Given the description of an element on the screen output the (x, y) to click on. 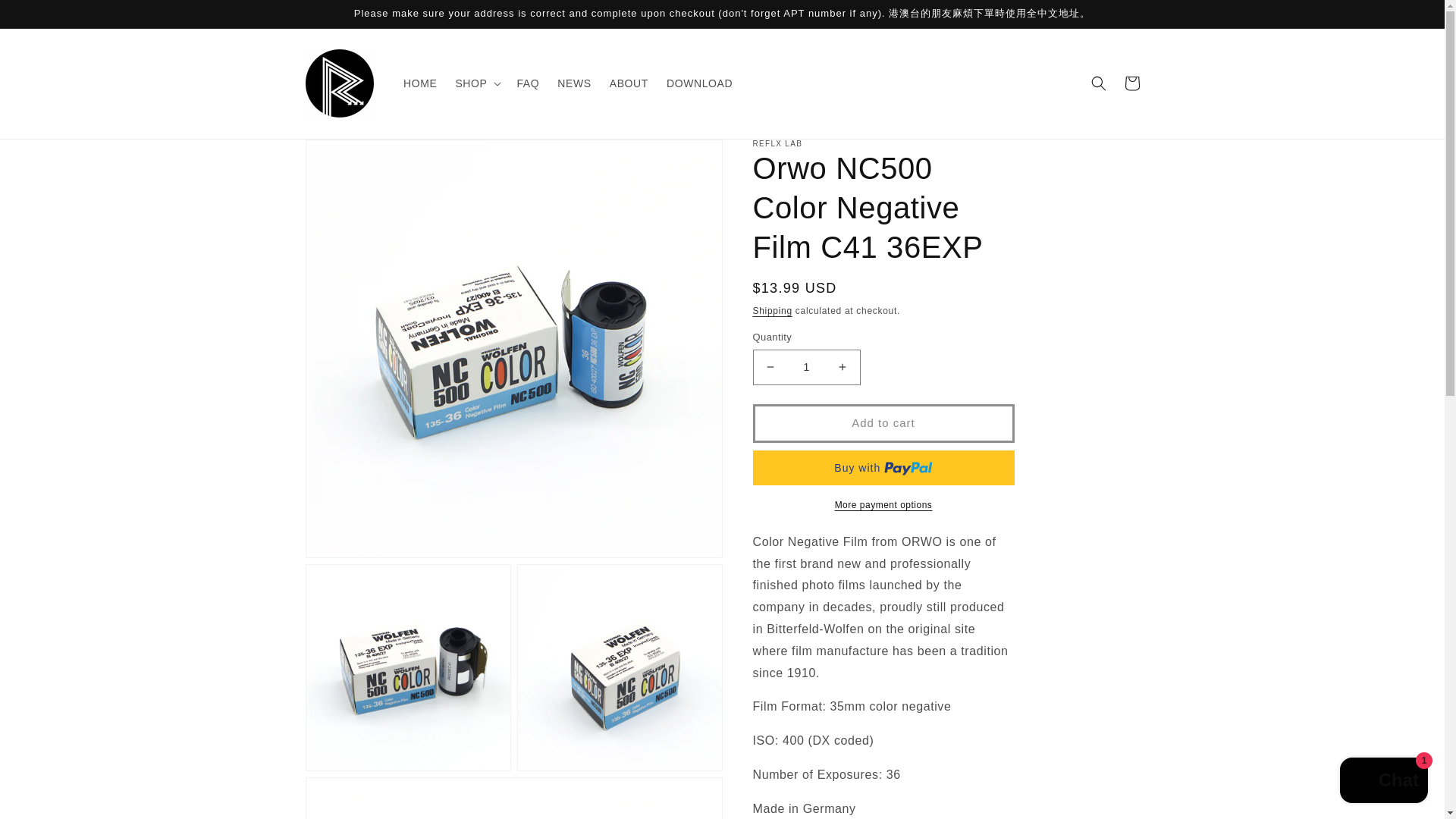
Shopify online store chat (1383, 781)
Skip to content (47, 18)
FAQ (527, 83)
NEWS (573, 83)
1 (806, 366)
Cart (1131, 82)
HOME (419, 83)
DOWNLOAD (699, 83)
ABOUT (628, 83)
